Given the description of an element on the screen output the (x, y) to click on. 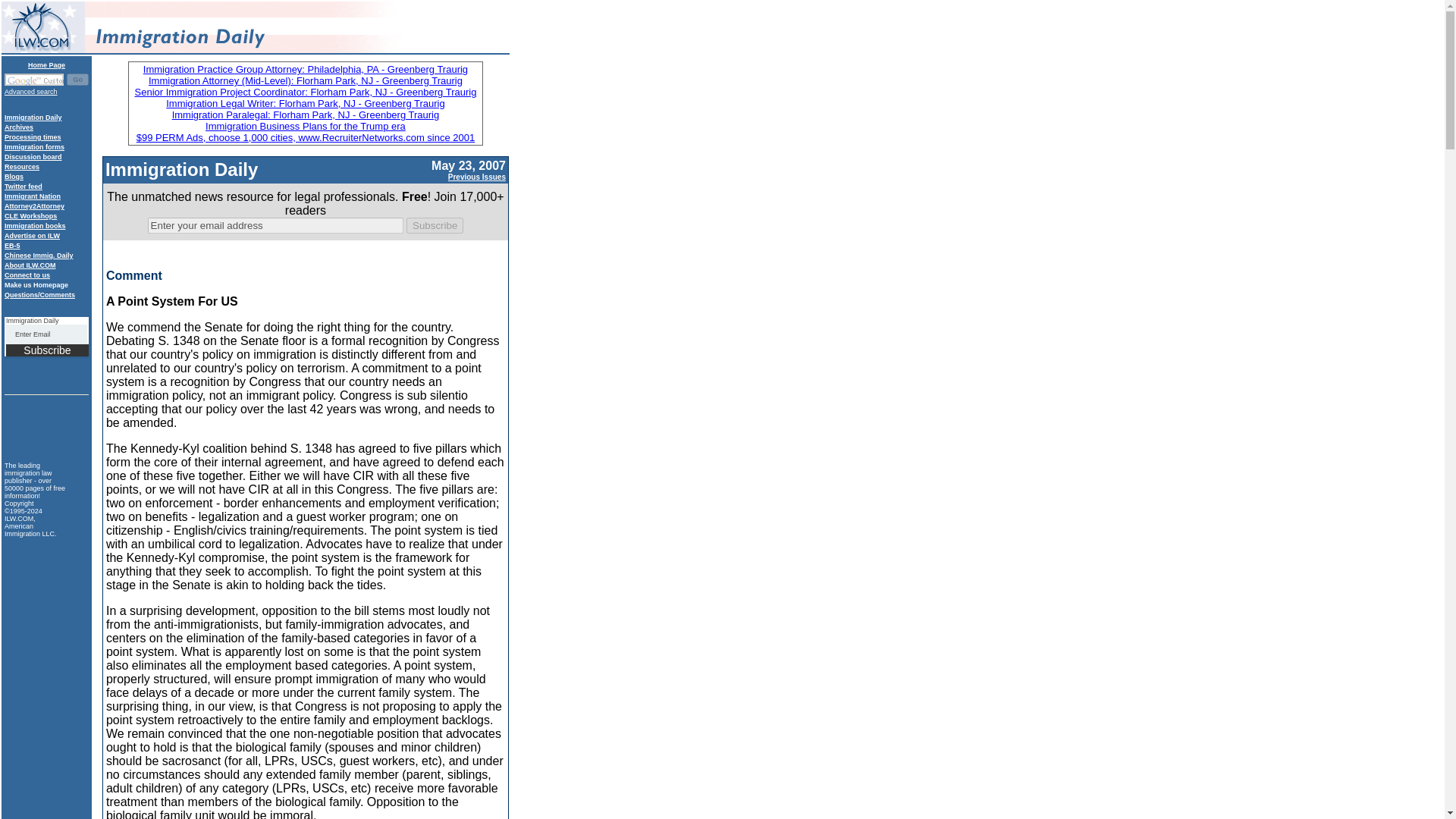
Processing times (32, 136)
Twitter feed (23, 186)
Subscribe (46, 349)
Advertise on ILW (31, 235)
Make us Homepage (36, 285)
Attorney2Attorney (34, 205)
EB-5 (12, 245)
Immigration Business Plans for the Trump era (305, 125)
Previous Issues (476, 174)
